Given the description of an element on the screen output the (x, y) to click on. 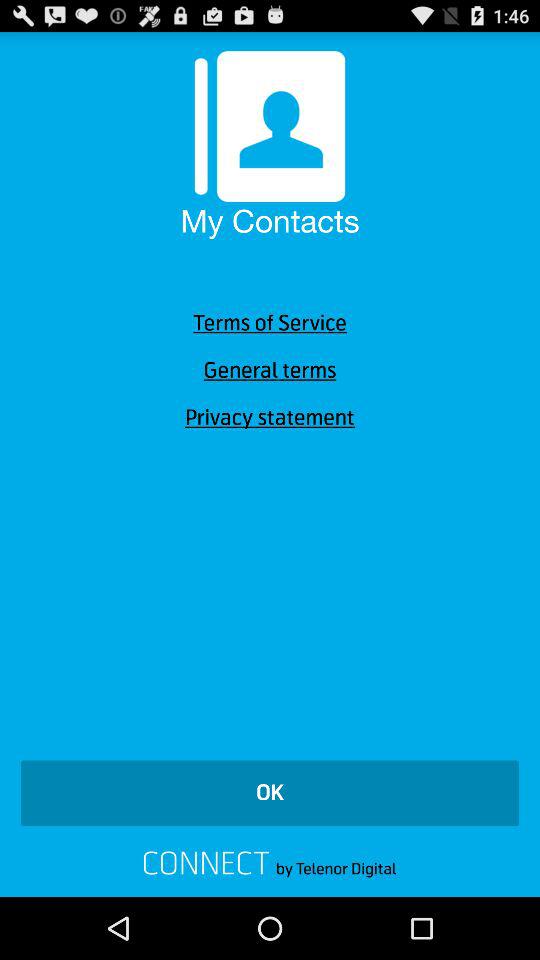
scroll to privacy statement (270, 417)
